Given the description of an element on the screen output the (x, y) to click on. 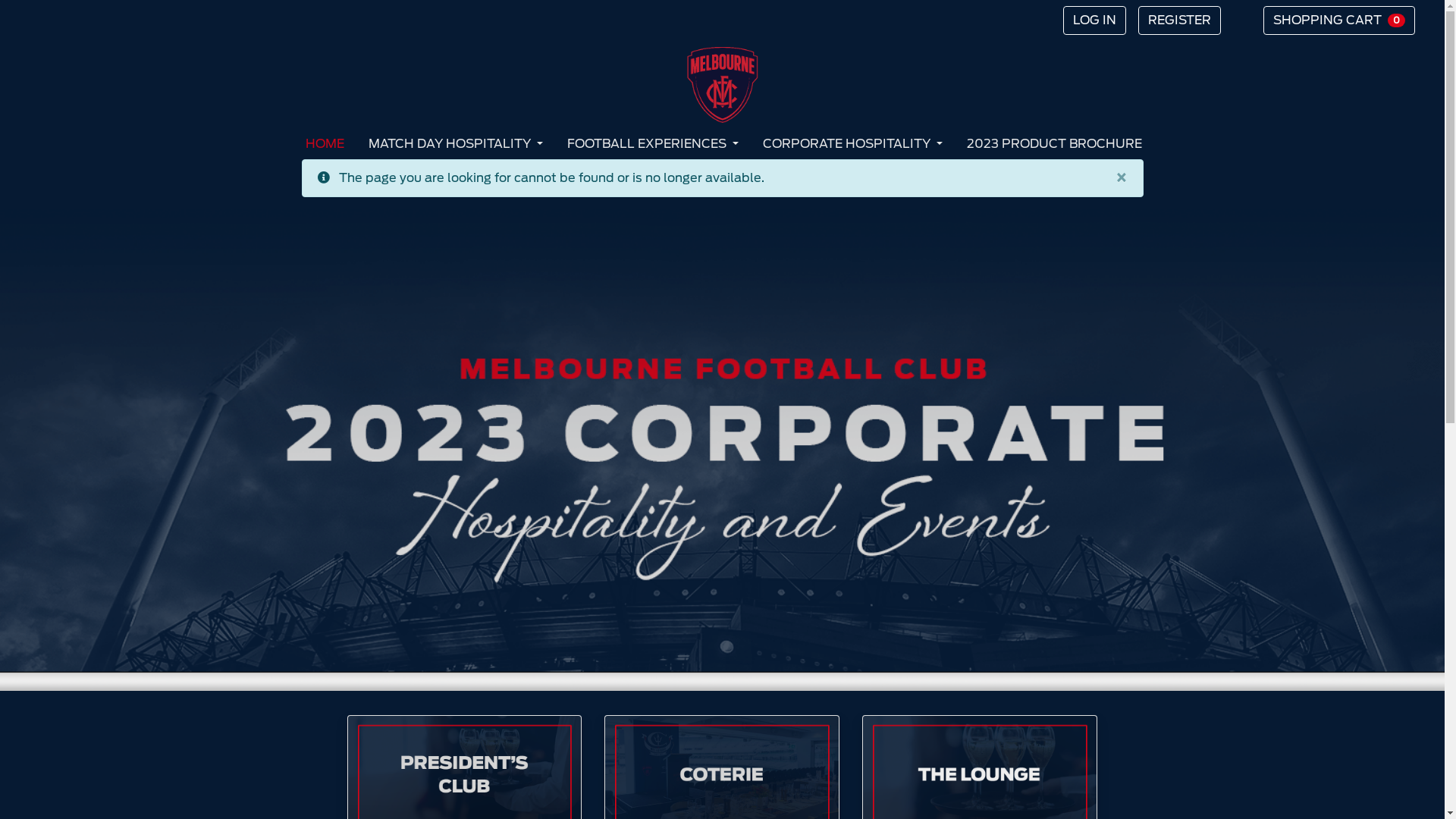
LOG IN Element type: text (1094, 20)
HOME Element type: text (324, 143)
MATCH DAY HOSPITALITY Element type: text (455, 143)
REGISTER Element type: text (1179, 20)
SHOPPING CART0 Element type: text (1339, 20)
CORPORATE HOSPITALITY Element type: text (852, 143)
2023 PRODUCT BROCHURE Element type: text (1054, 143)
FOOTBALL EXPERIENCES Element type: text (652, 143)
